Given the description of an element on the screen output the (x, y) to click on. 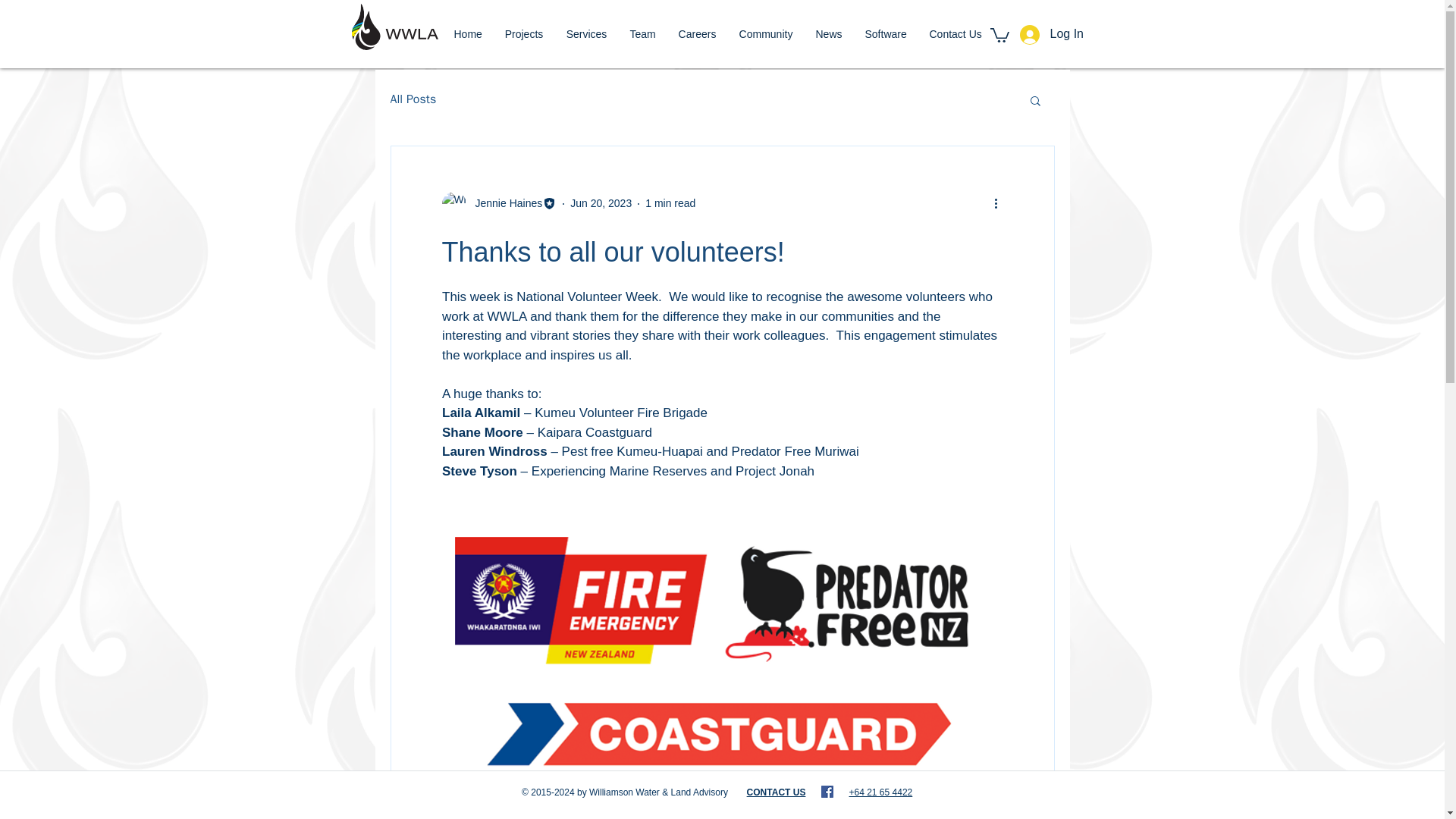
Jennie Haines (498, 203)
Community (766, 34)
Software (885, 34)
Contact Us (954, 34)
Services (586, 34)
Careers (697, 34)
Jun 20, 2023 (600, 203)
Team (642, 34)
Home (467, 34)
Projects (523, 34)
Log In (1050, 33)
1 min read (670, 203)
Jennie Haines (503, 203)
News (828, 34)
All Posts (412, 99)
